Given the description of an element on the screen output the (x, y) to click on. 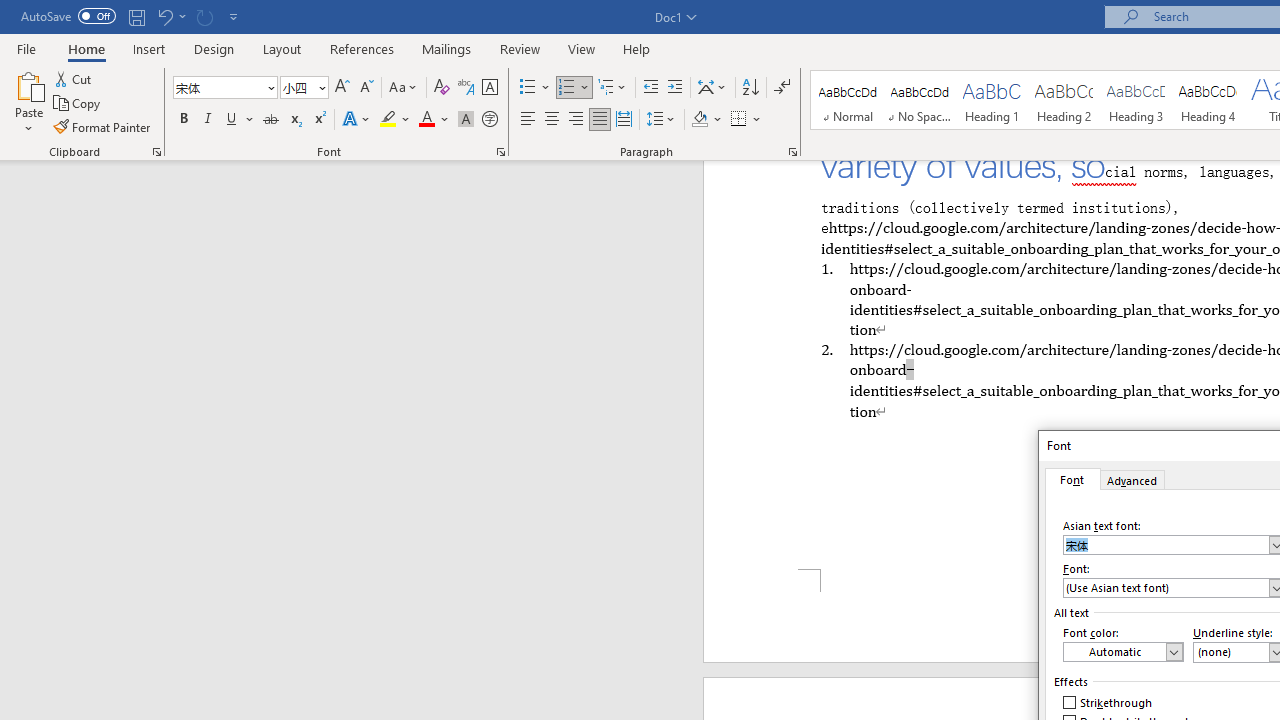
Clear Formatting (442, 87)
Italic (207, 119)
References (362, 48)
Font Color Automatic (426, 119)
Underline (232, 119)
Undo Apply Quick Style (170, 15)
Shading RGB(0, 0, 0) (699, 119)
Bold (183, 119)
Borders (739, 119)
Paste (28, 102)
